Given the description of an element on the screen output the (x, y) to click on. 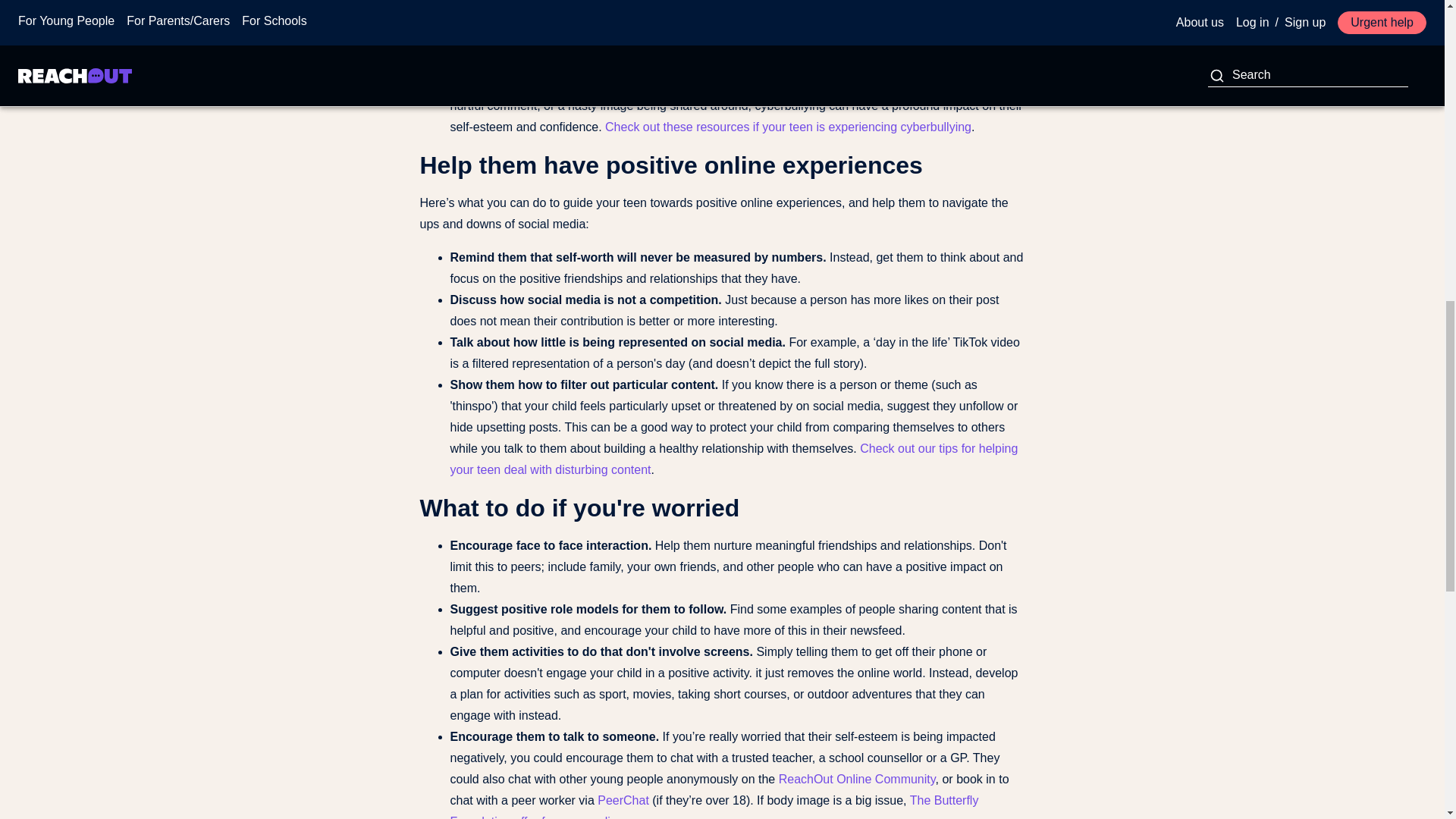
The Butterfly Foundation offer free counseling (713, 806)
anxious (753, 42)
PeerChat (622, 799)
ReachOut Online Community (857, 779)
